Given the description of an element on the screen output the (x, y) to click on. 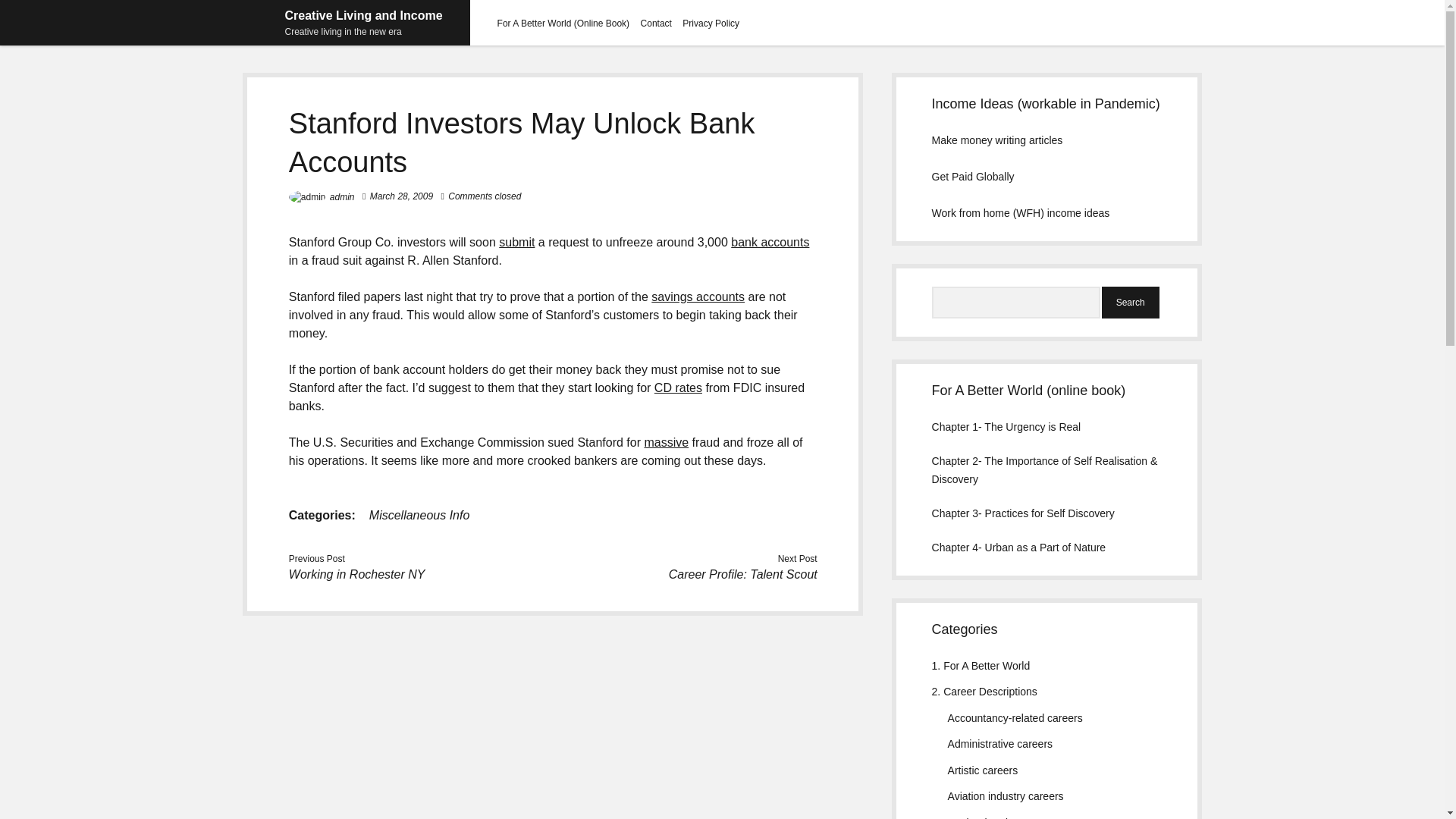
1. For A Better World (980, 665)
submit (516, 241)
massive (665, 441)
Chapter 3- Practices for Self Discovery (1023, 512)
View all posts in Miscellaneous Info (419, 514)
Administrative careers (999, 743)
March 28, 2009 (400, 195)
Chapter 4- Urban as a Part of Nature (1018, 547)
Get Paid Globally (972, 176)
Search (1130, 302)
